Given the description of an element on the screen output the (x, y) to click on. 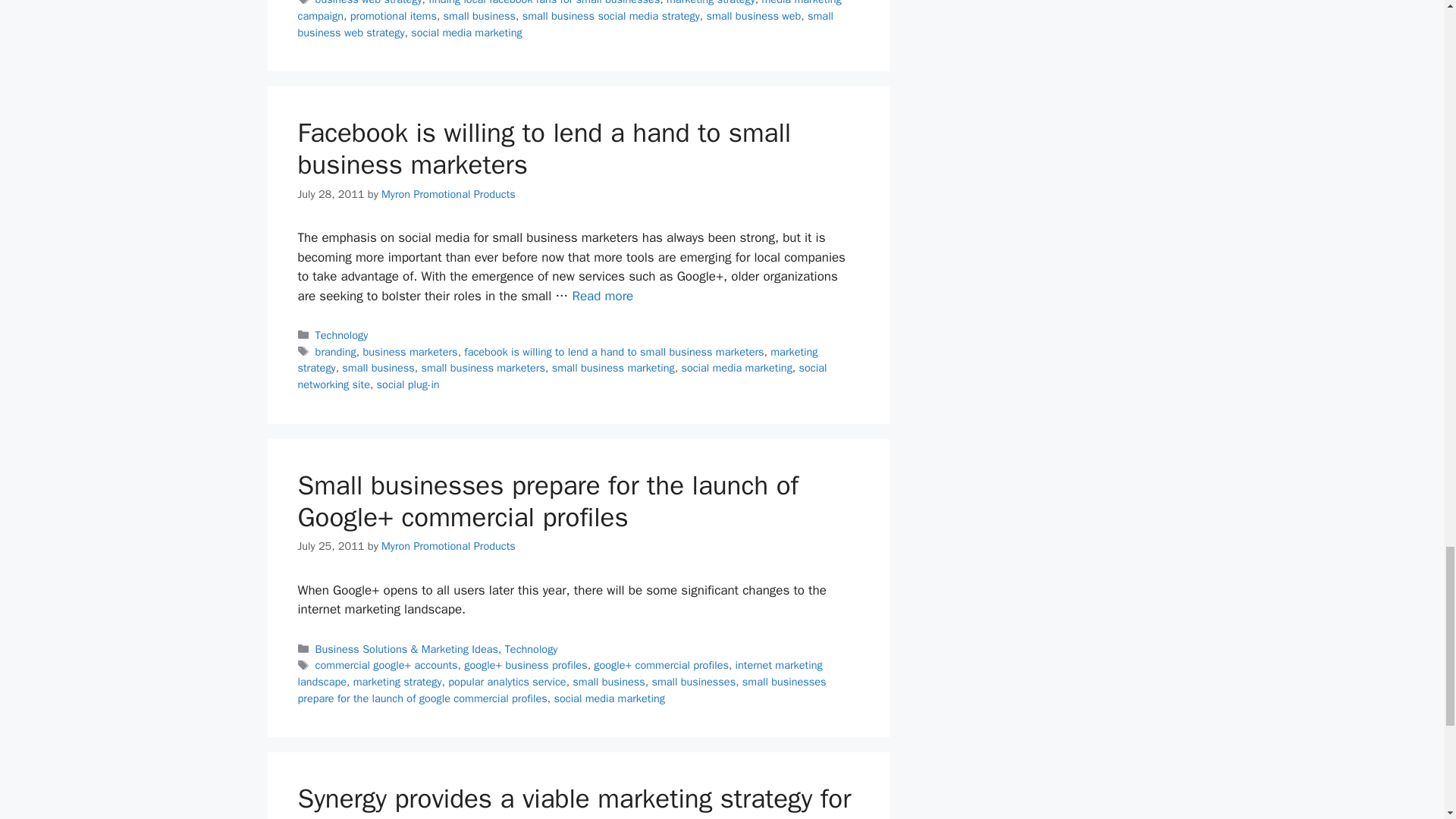
View all posts by Myron Promotional Products (448, 545)
View all posts by Myron Promotional Products (448, 193)
